Given the description of an element on the screen output the (x, y) to click on. 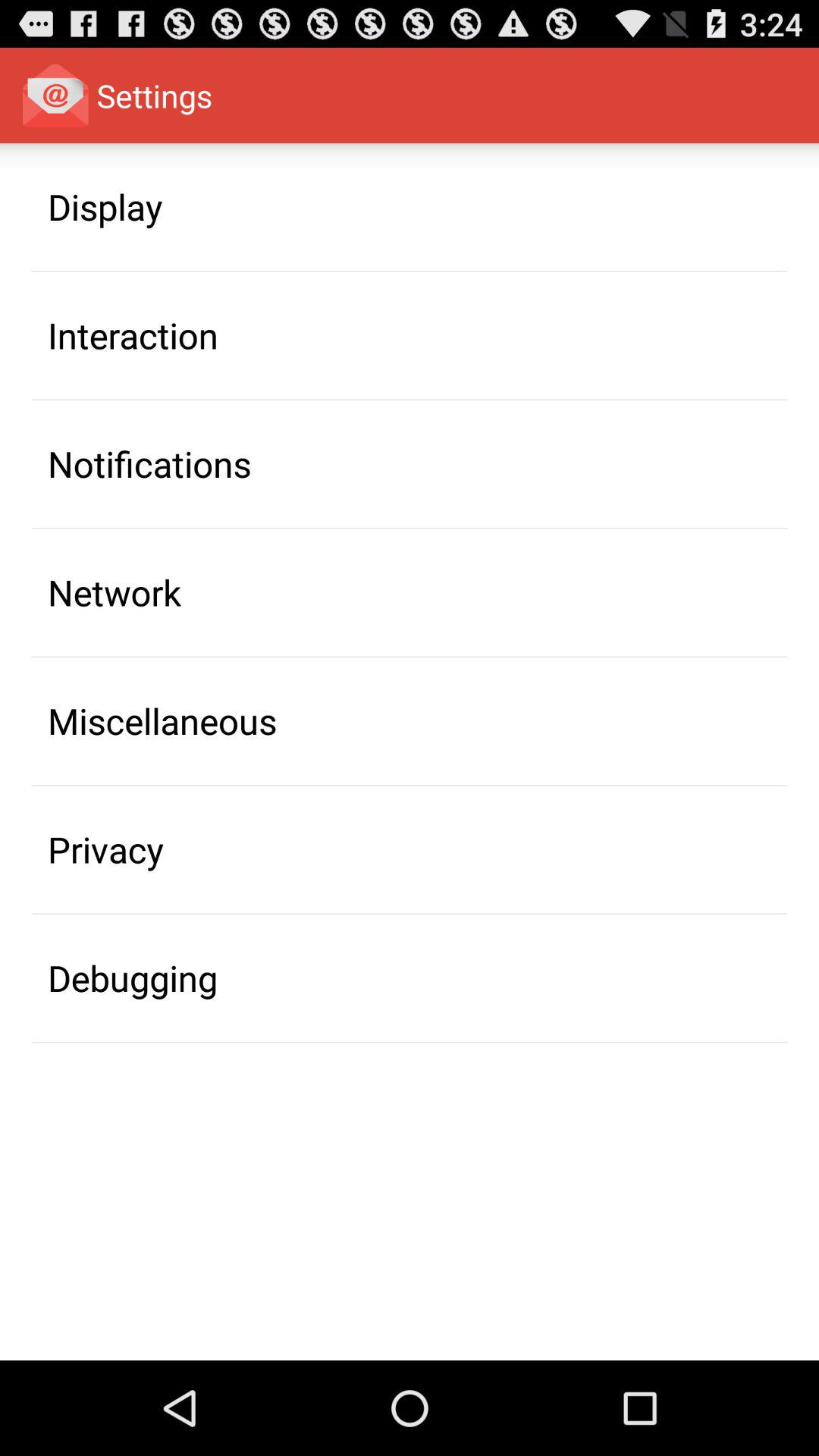
turn on the miscellaneous item (161, 720)
